Given the description of an element on the screen output the (x, y) to click on. 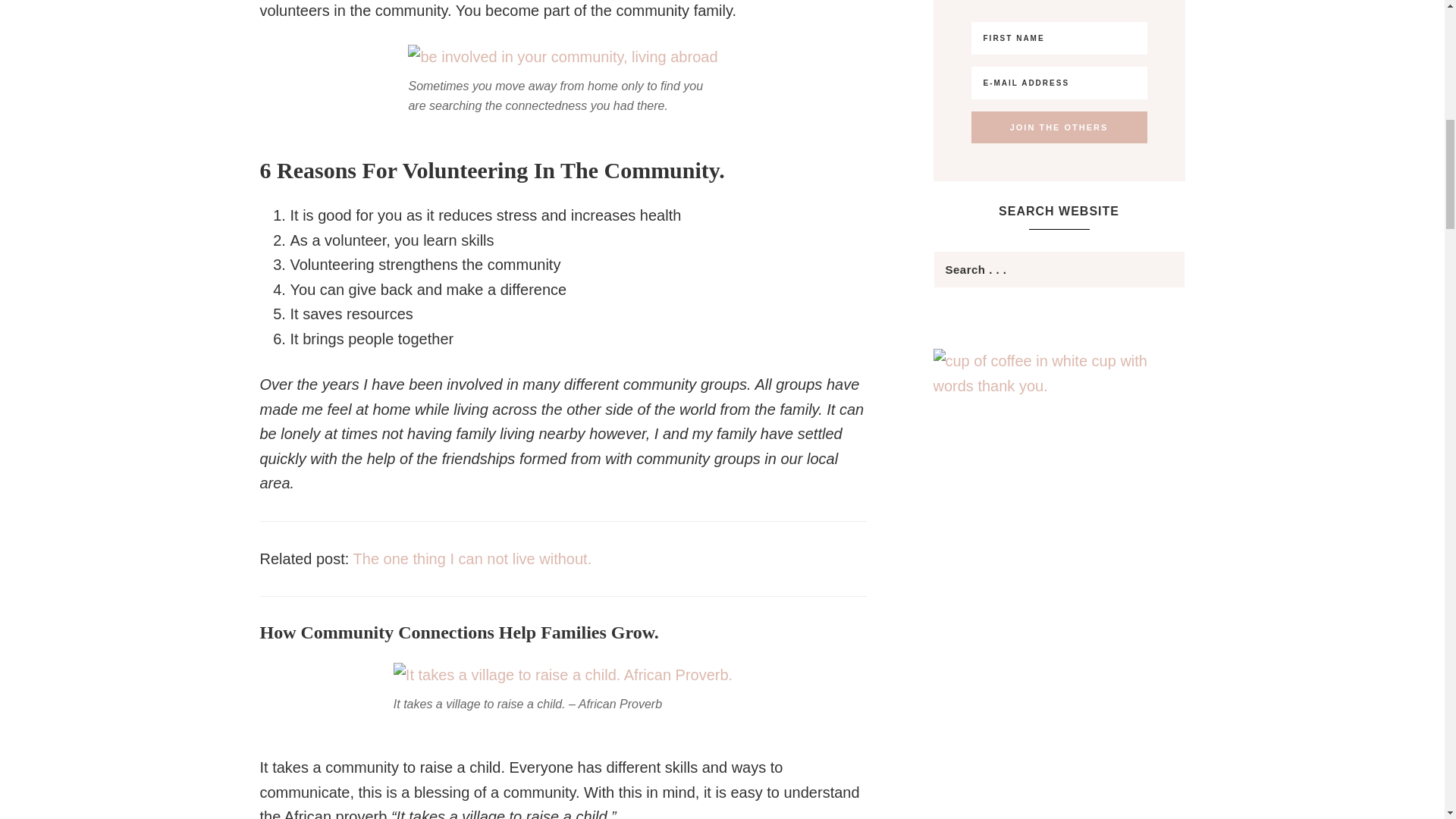
Join the others (1059, 127)
Join the others (1059, 127)
The one thing I can not live without. (472, 558)
